Given the description of an element on the screen output the (x, y) to click on. 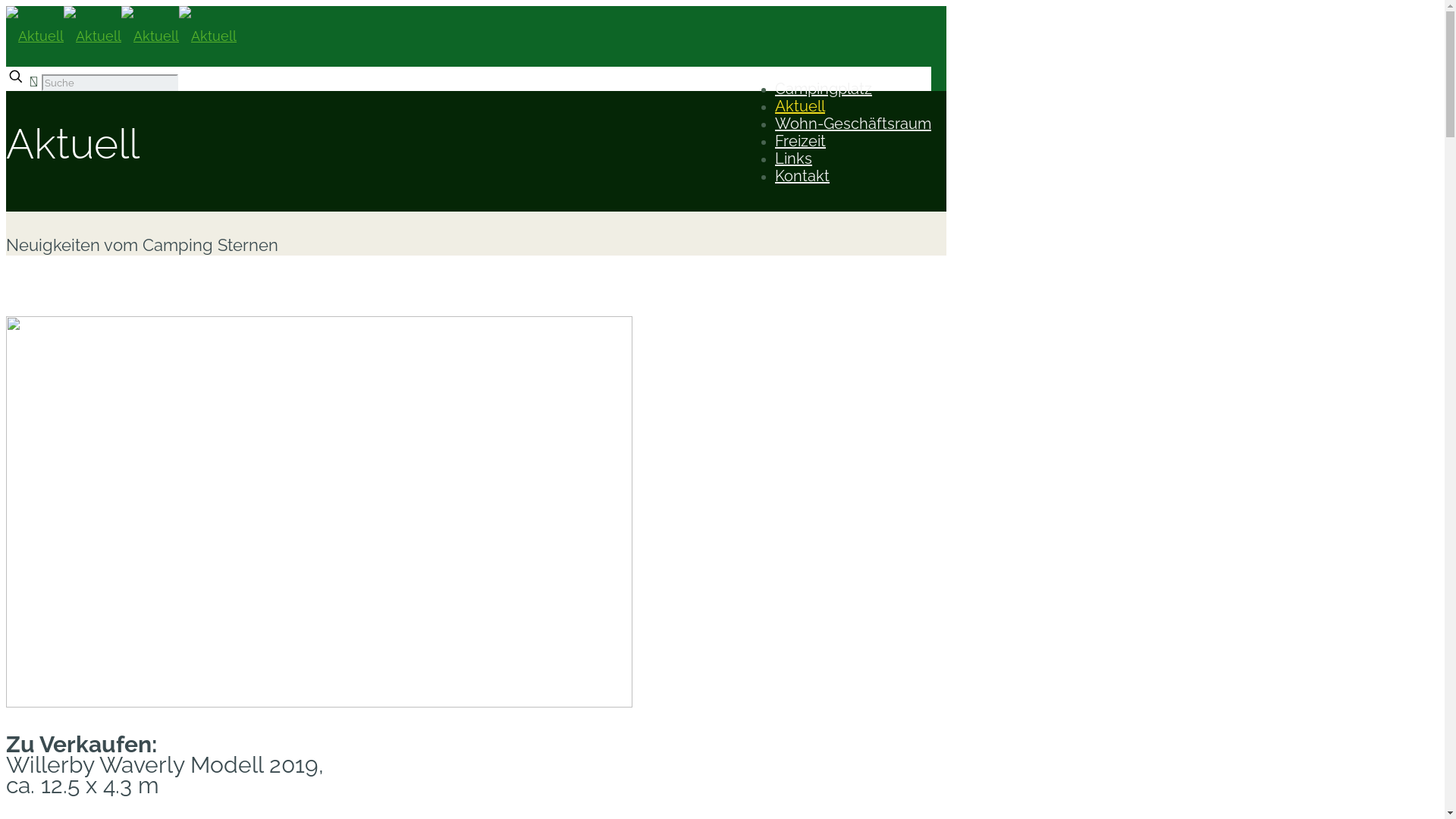
Freizeit Element type: text (800, 140)
Links Element type: text (793, 158)
Campingplatz Element type: text (823, 88)
Aktuell Element type: text (800, 106)
Kontakt Element type: text (802, 175)
Camping Sternen Element type: hover (121, 35)
